Given the description of an element on the screen output the (x, y) to click on. 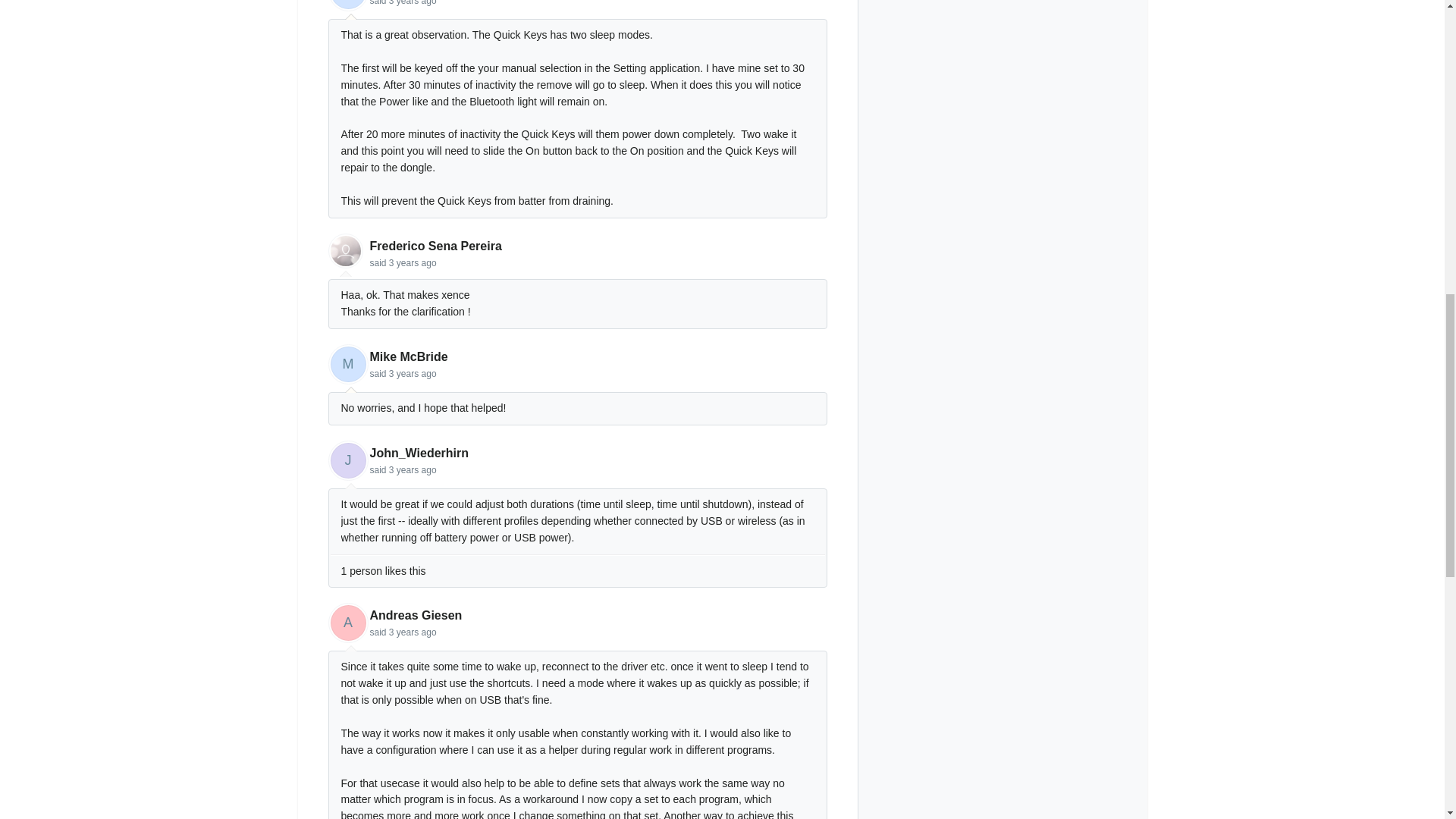
Thu, Jan 20, 2022 at 12:11 PM (412, 632)
Fri, Oct 1, 2021 at 11:10 AM (412, 373)
Tue, May 25, 2021 at  3:32 PM (412, 2)
Tue, May 25, 2021 at  3:42 PM (412, 262)
Wed, Dec 1, 2021 at  2:23 PM (412, 470)
